Given the description of an element on the screen output the (x, y) to click on. 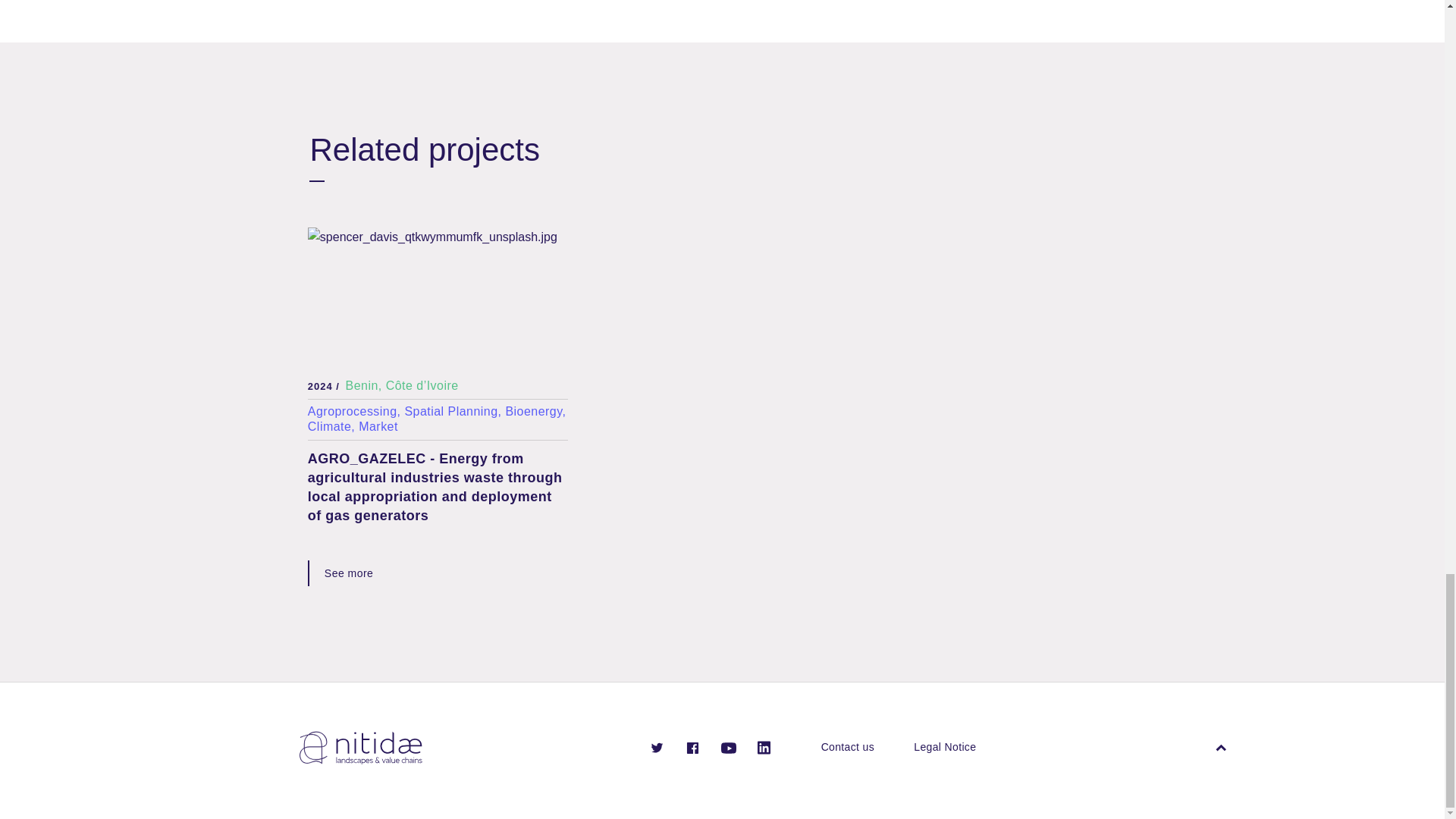
Legal Notice (944, 747)
Facebook (693, 746)
See more (348, 573)
Contact us (848, 747)
YouTube (728, 746)
Twitter (656, 746)
LinkedIn (763, 746)
